Given the description of an element on the screen output the (x, y) to click on. 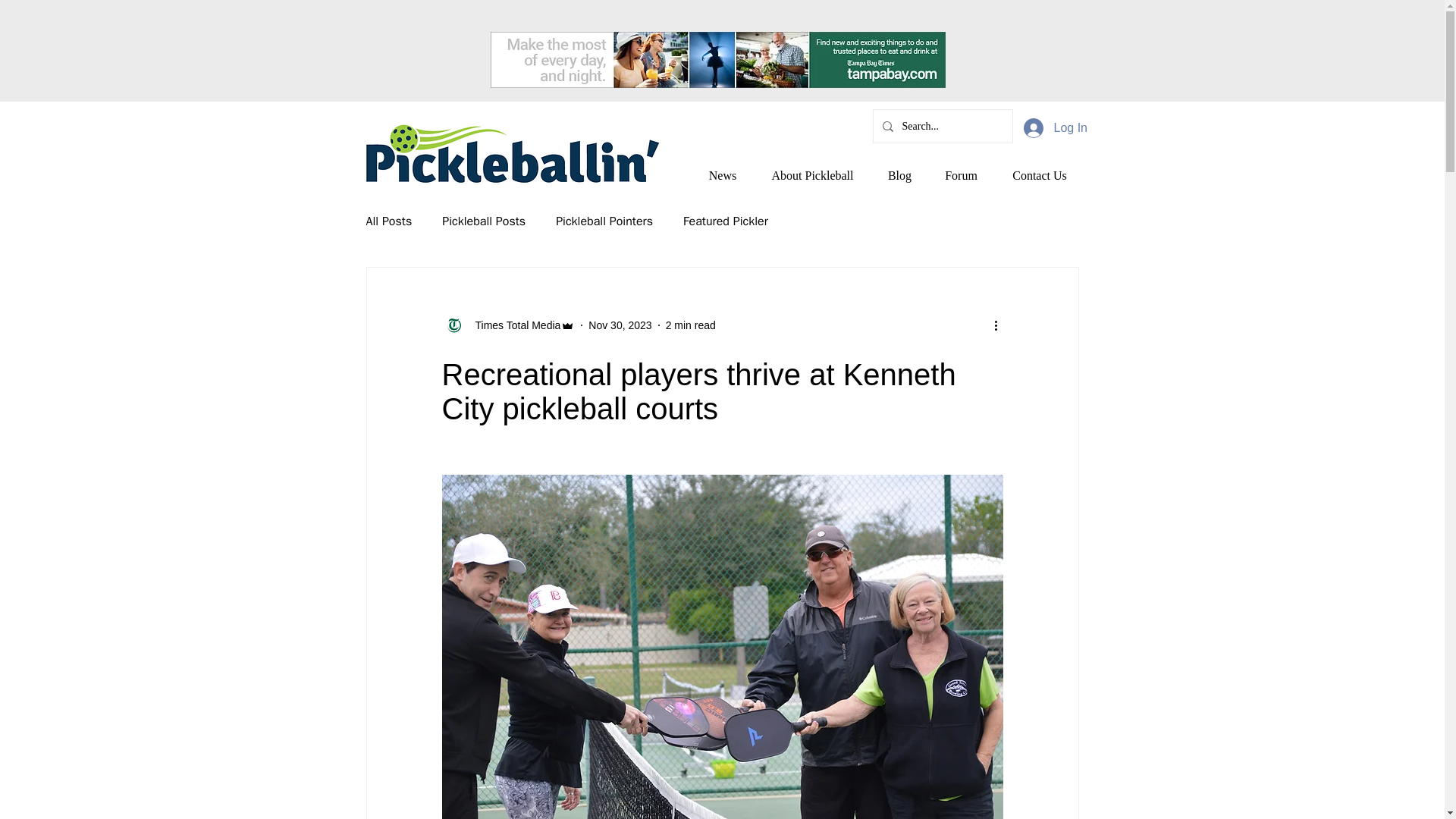
Blog (900, 175)
Pickleball Posts (483, 221)
Times Total Media (508, 324)
Nov 30, 2023 (619, 324)
Contact Us (1039, 175)
News (721, 175)
All Posts (388, 221)
Featured Pickler (725, 221)
About Pickleball (813, 175)
Times Total Media (512, 324)
Forum (961, 175)
Log In (1053, 127)
Pickleball Pointers (604, 221)
2 min read (690, 324)
